Given the description of an element on the screen output the (x, y) to click on. 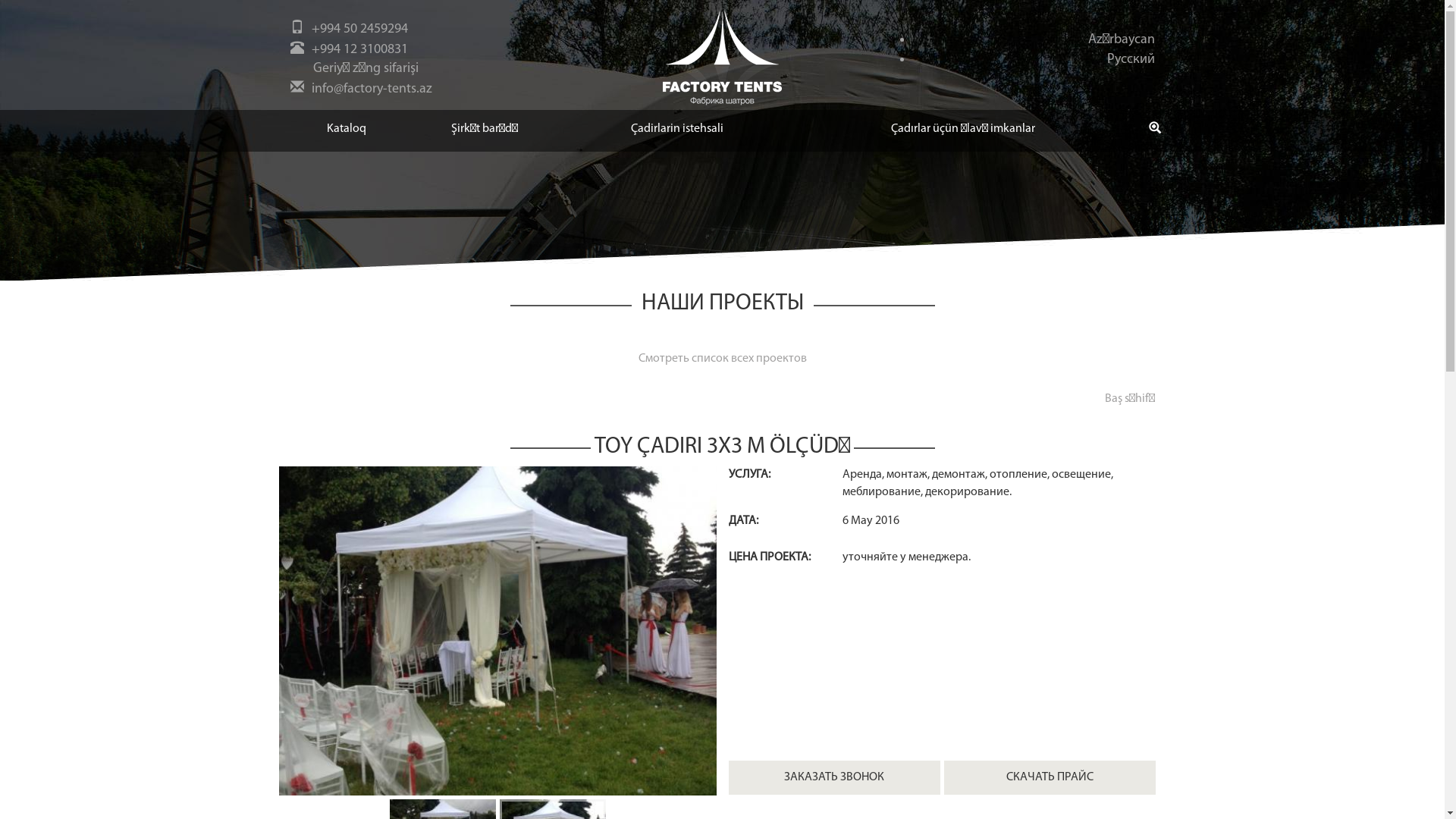
info@factory-tents.az Element type: text (370, 88)
Skip to main content Element type: text (0, 0)
+994 50 2459294 Element type: text (358, 28)
+994 12 3100831 Element type: text (358, 49)
